Given the description of an element on the screen output the (x, y) to click on. 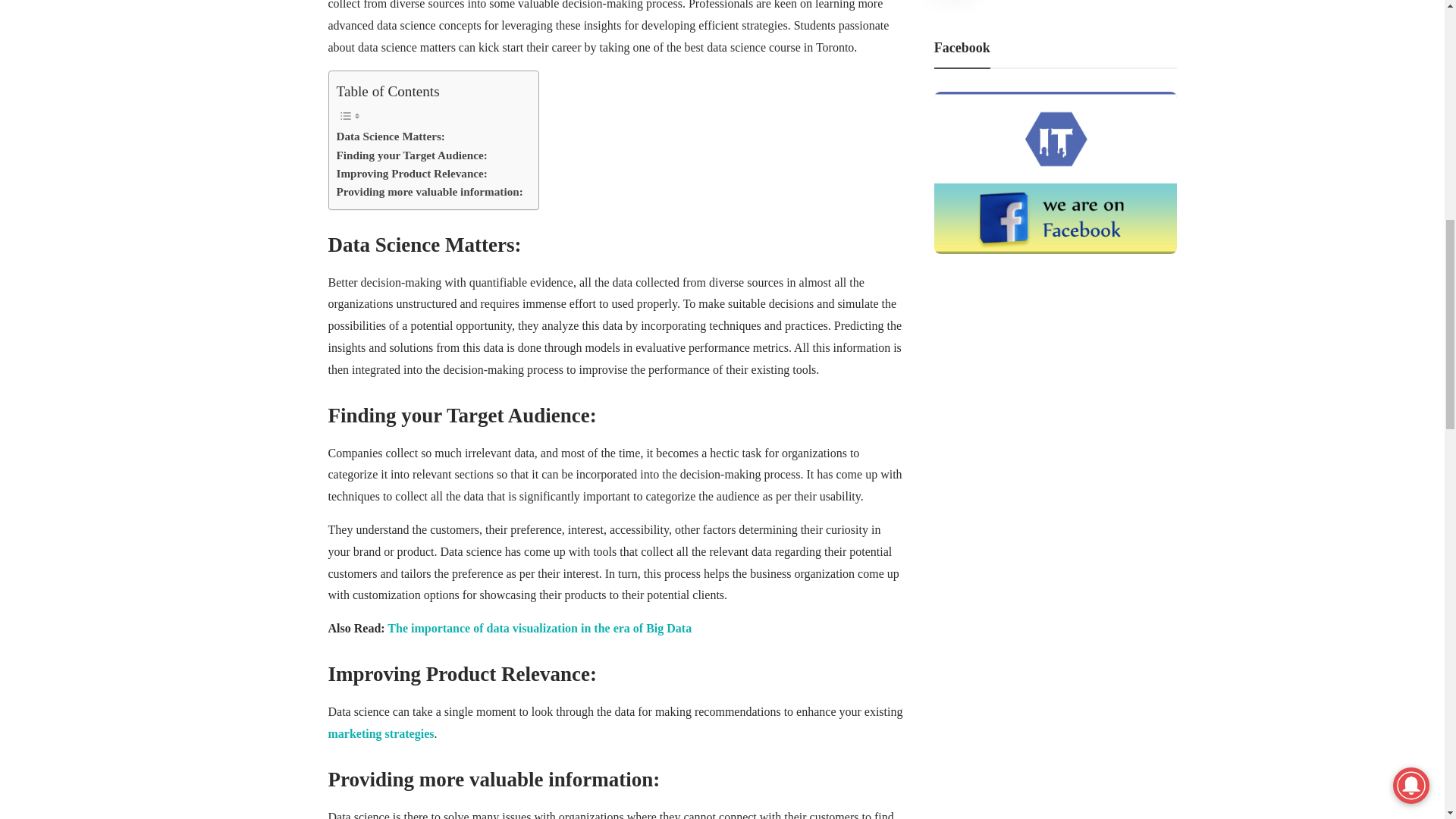
Finding your Target Audience: (411, 155)
Providing more valuable information: (429, 191)
Data Science Matters: (390, 136)
